Given the description of an element on the screen output the (x, y) to click on. 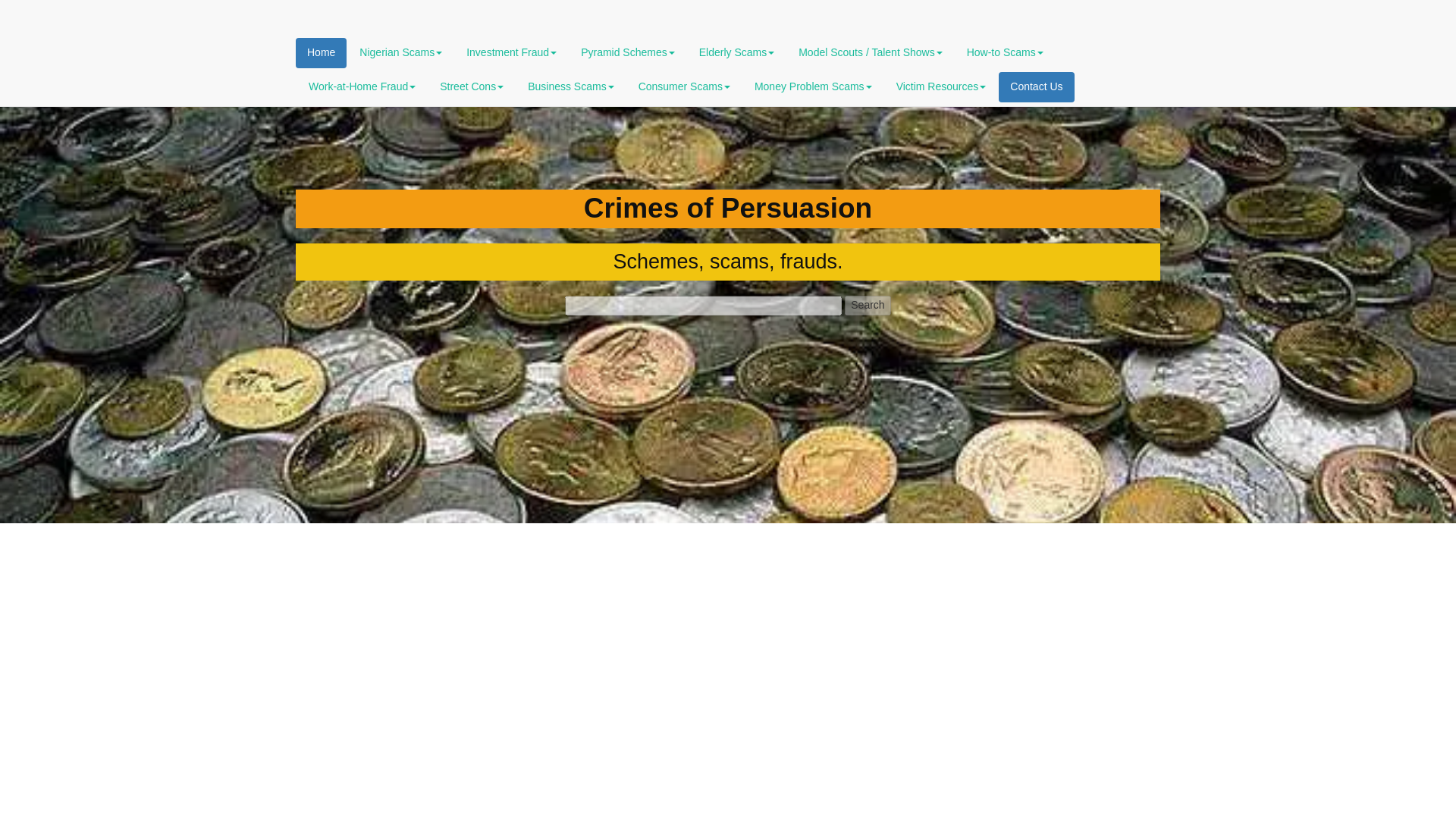
Pyramid Schemes (627, 52)
Investment Fraud (510, 52)
Elderly Scams (736, 52)
Home (320, 52)
Search (866, 305)
Nigerian Scams (399, 52)
